Given the description of an element on the screen output the (x, y) to click on. 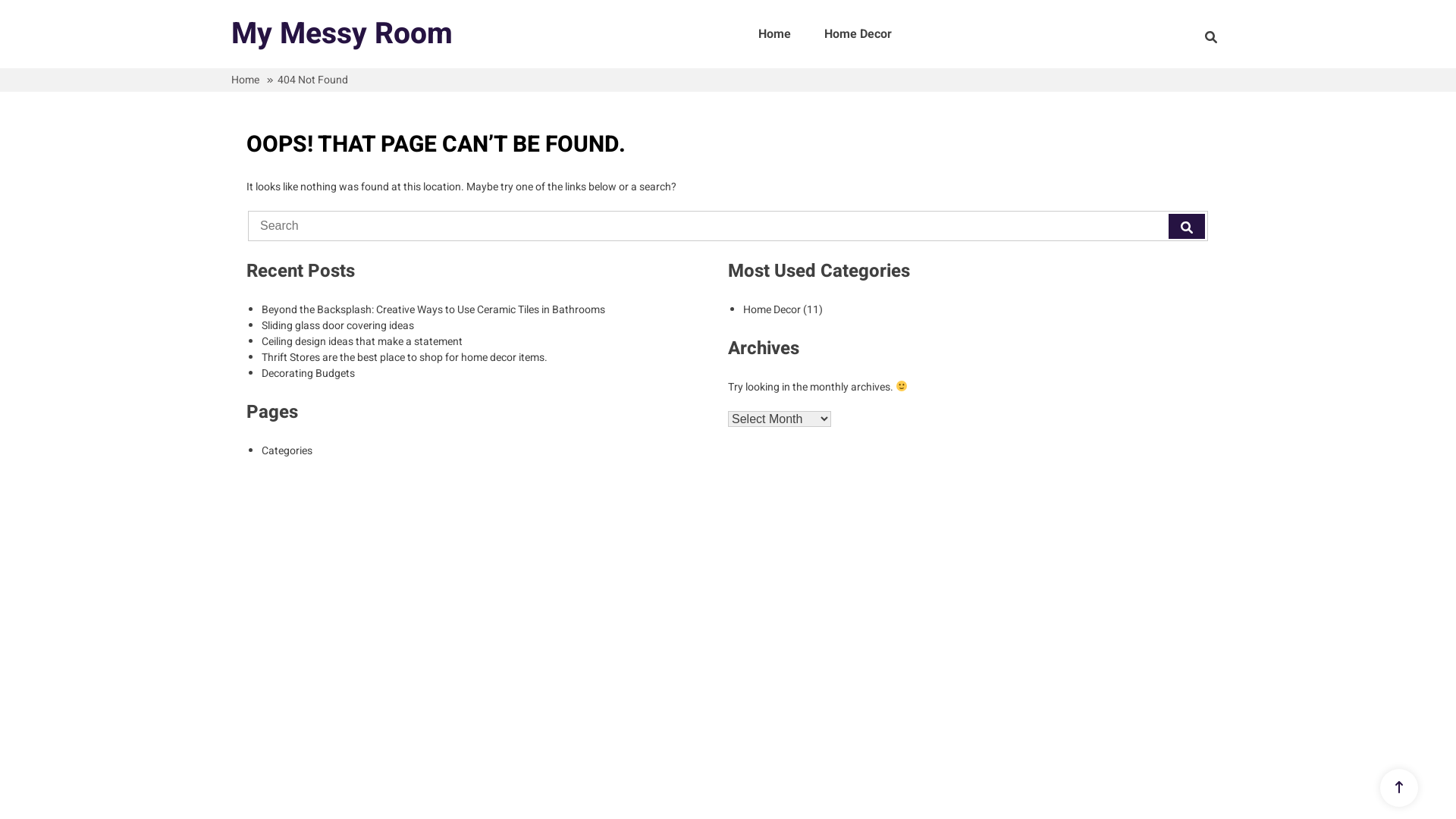
Decorating Budgets Element type: text (307, 373)
Home Decor Element type: text (771, 309)
Home Element type: text (245, 79)
Ceiling design ideas that make a statement Element type: text (361, 341)
Home Element type: text (774, 34)
My Messy Room Element type: text (341, 33)
Home Decor Element type: text (857, 34)
Categories Element type: text (286, 450)
Sliding glass door covering ideas Element type: text (337, 325)
